Given the description of an element on the screen output the (x, y) to click on. 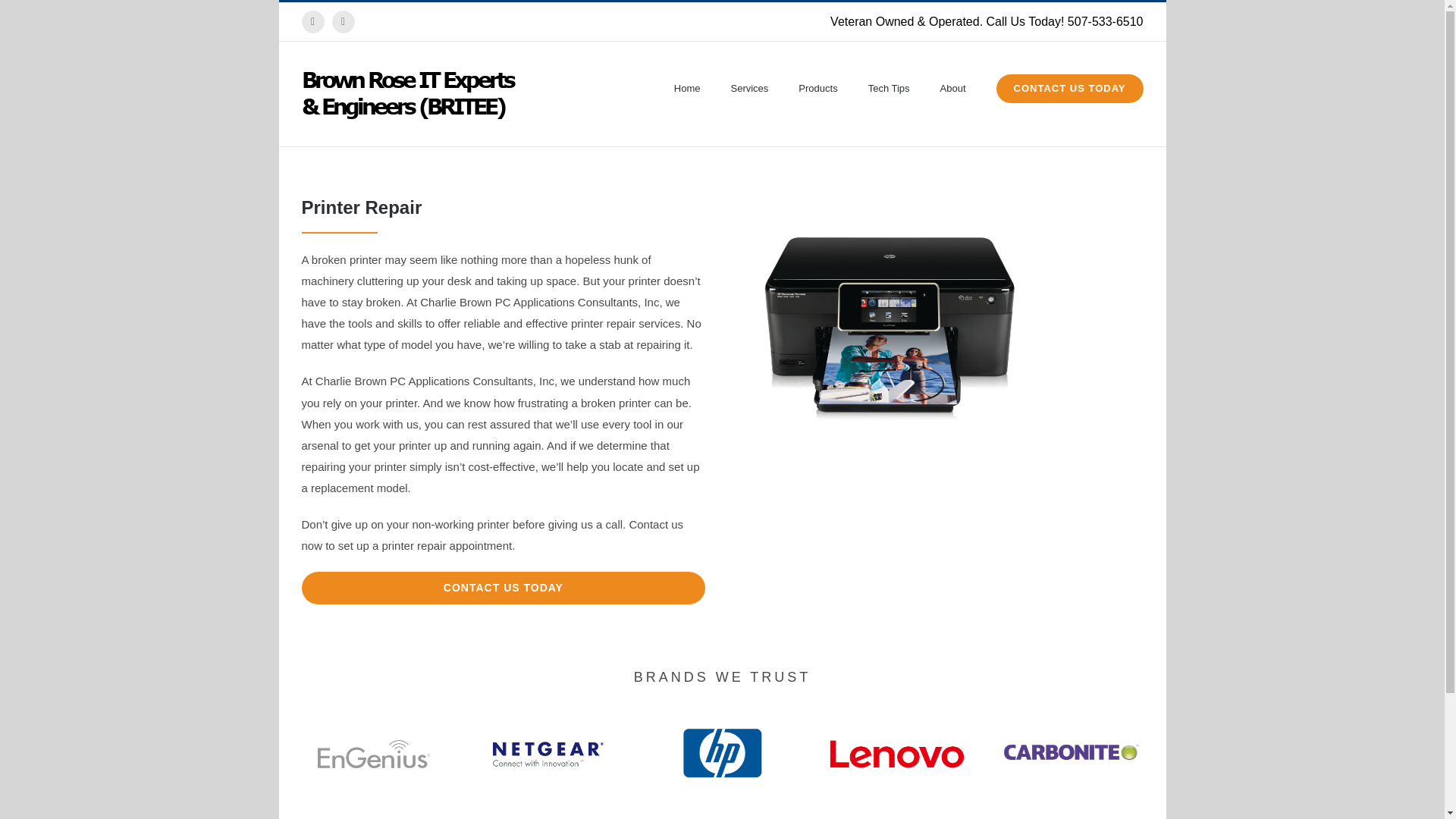
New-Printers (890, 328)
CONTACT US TODAY (1068, 86)
Google Reviews (343, 21)
Facebook (312, 21)
507-533-6510 (1104, 21)
CONTACT US TODAY (503, 587)
